Given the description of an element on the screen output the (x, y) to click on. 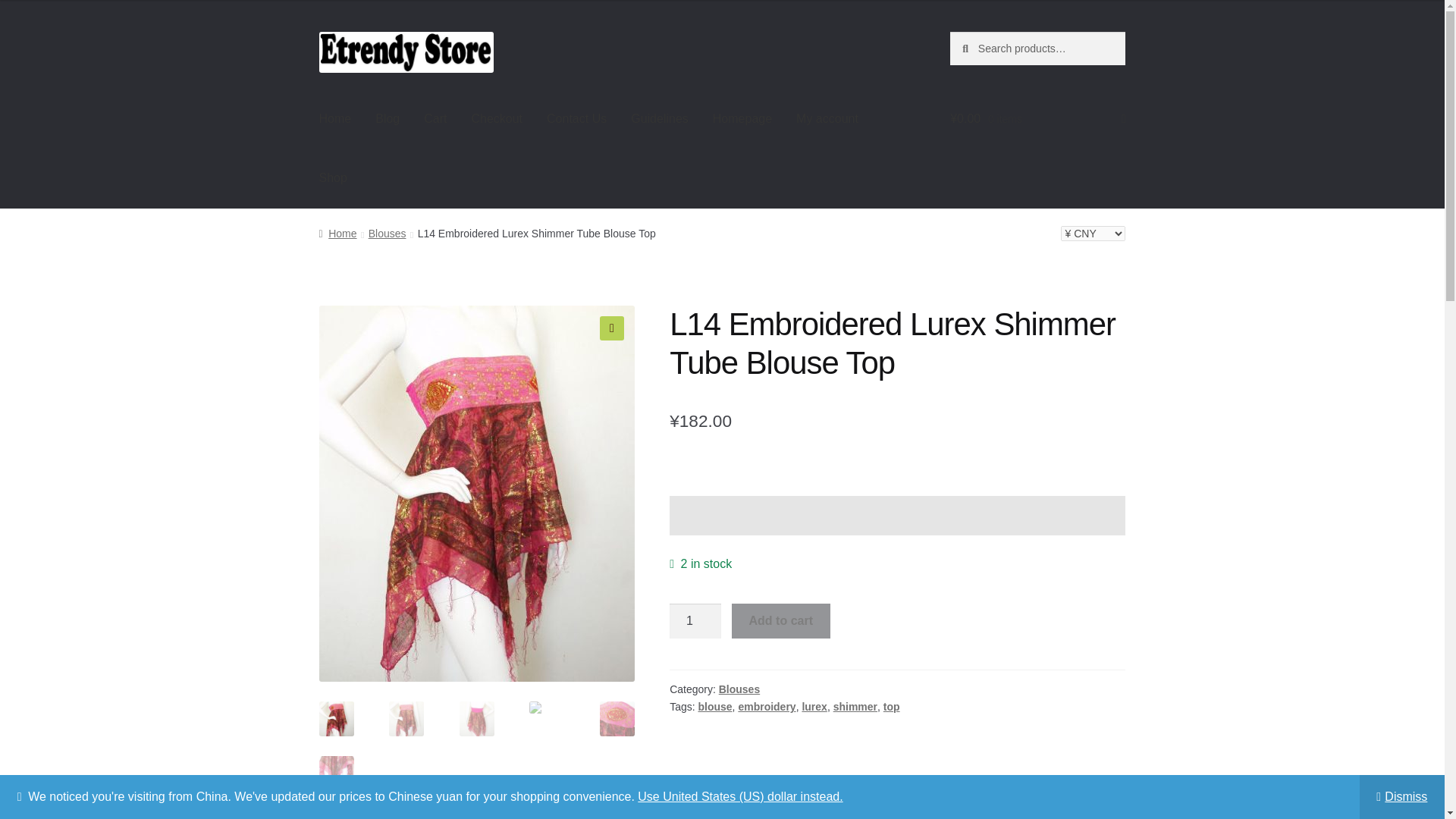
My account (827, 118)
top (891, 706)
Contact Us (576, 118)
1 (694, 620)
Home (335, 118)
lurex (814, 706)
Blog (387, 118)
Add to cart (780, 620)
shimmer (854, 706)
Home (337, 233)
Blouses (387, 233)
Blouses (739, 689)
Homepage (742, 118)
Checkout (496, 118)
